Given the description of an element on the screen output the (x, y) to click on. 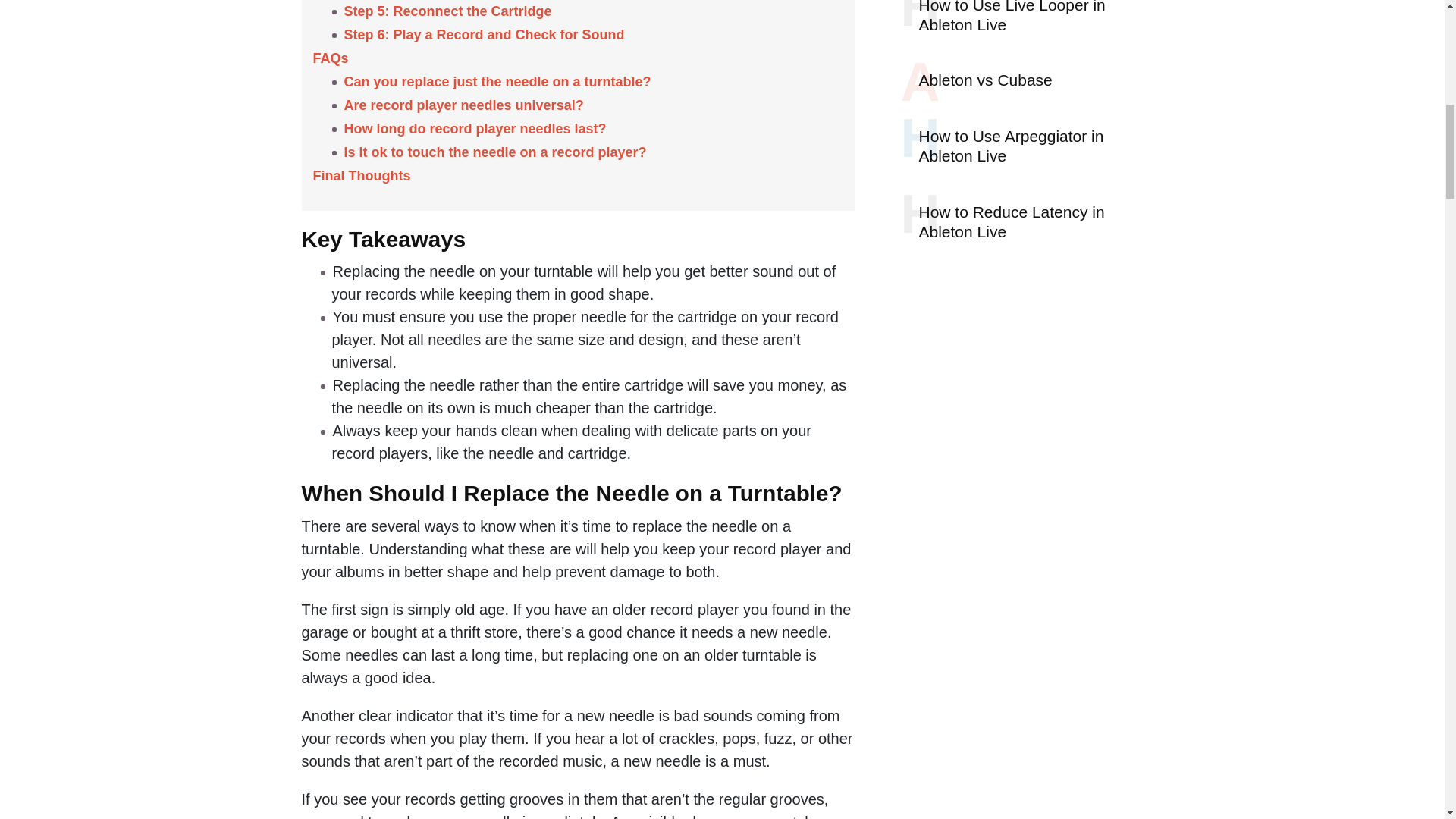
Are record player needles universal?  (465, 104)
Final Thoughts  (363, 175)
Is it ok to touch the needle on a record player?  (496, 151)
Step 6: Play a Record and Check for Sound (483, 34)
How long do record player needles last?  (476, 128)
Step 5: Reconnect the Cartridge  (449, 10)
Can you replace just the needle on a turntable?  (499, 81)
FAQs (330, 57)
